Given the description of an element on the screen output the (x, y) to click on. 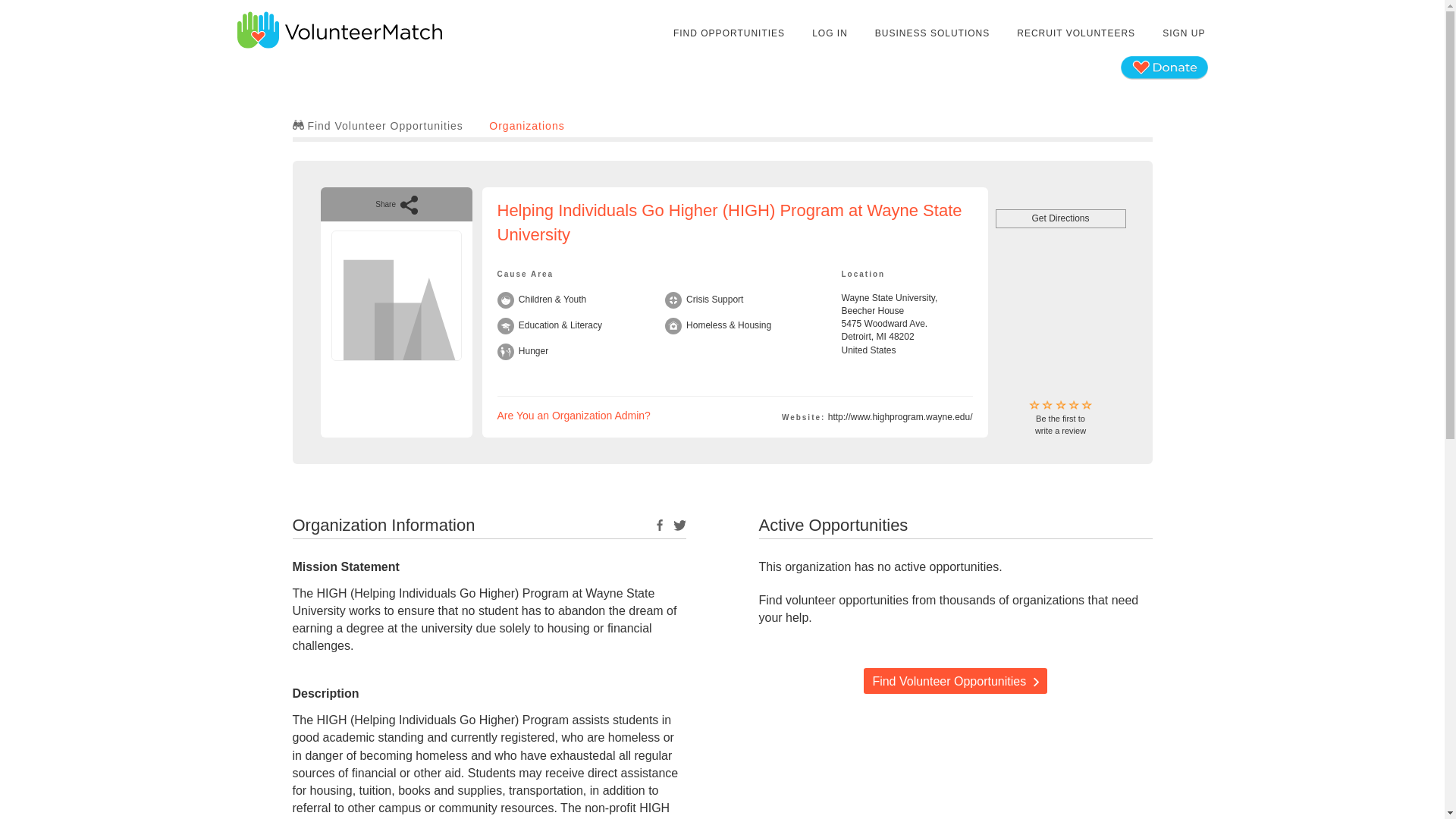
Organizations (526, 125)
FIND OPPORTUNITIES (729, 32)
Find Volunteer Opportunities (1059, 418)
SIGN UP (377, 125)
LOG IN (1183, 32)
Find Volunteer Opportunities (829, 32)
Get Directions (954, 680)
BUSINESS SOLUTIONS (573, 415)
